Given the description of an element on the screen output the (x, y) to click on. 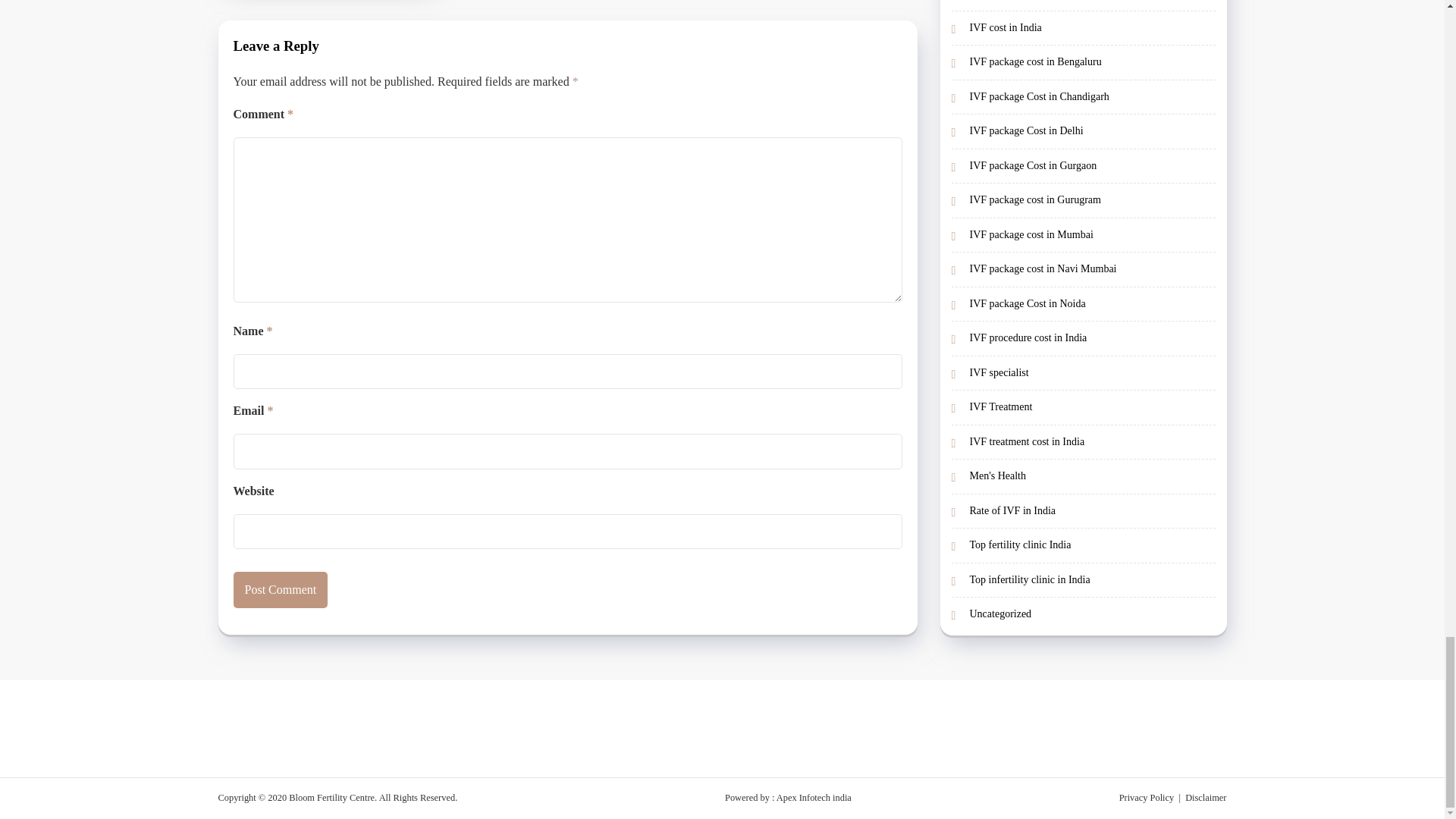
Post Comment (280, 589)
Post Comment (280, 589)
